Given the description of an element on the screen output the (x, y) to click on. 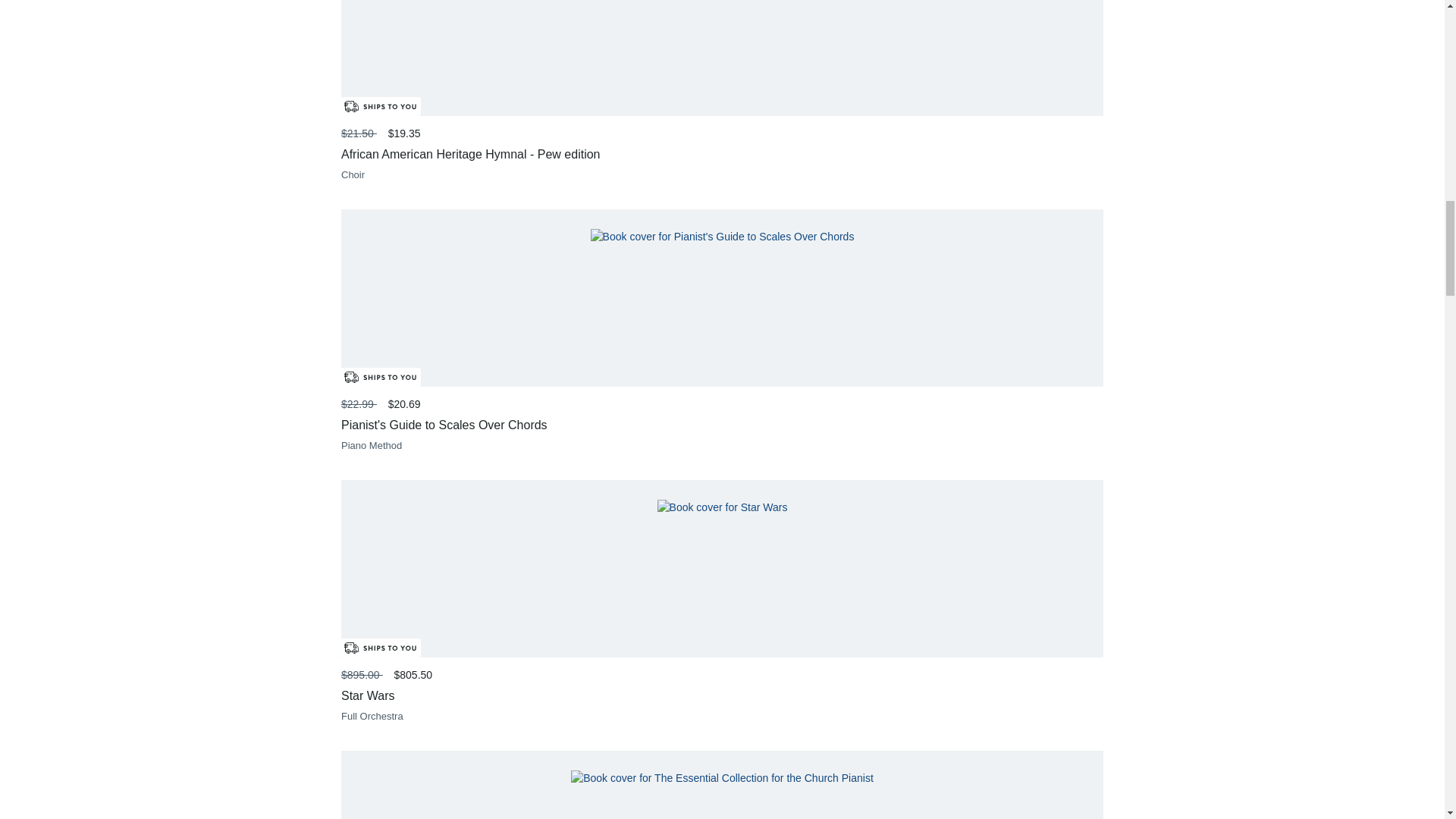
Book cover for Star Wars (722, 507)
Book cover for Pianist's Guide to Scales Over Chords (722, 236)
